Given the description of an element on the screen output the (x, y) to click on. 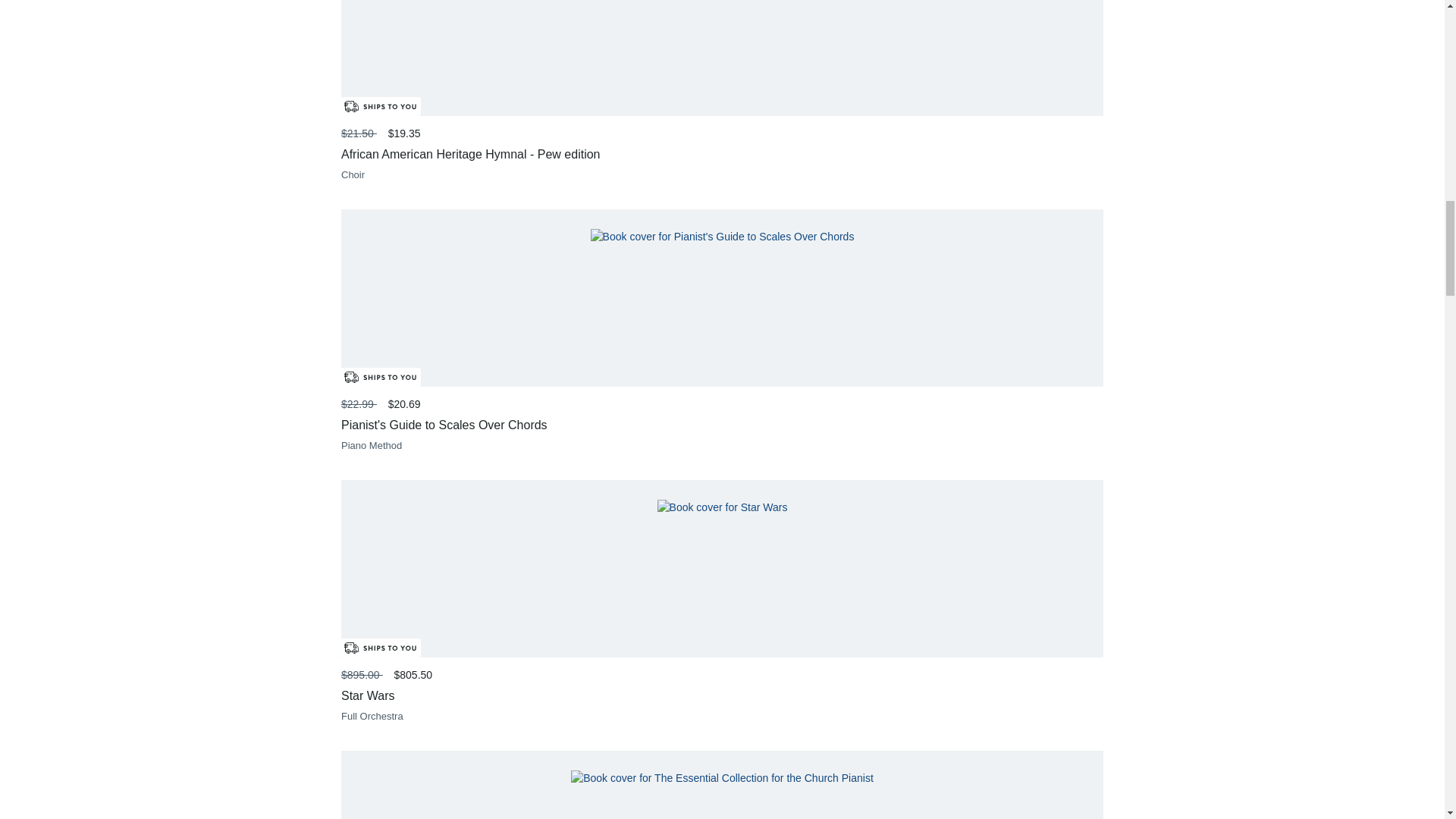
Book cover for Star Wars (722, 507)
Book cover for Pianist's Guide to Scales Over Chords (722, 236)
